Given the description of an element on the screen output the (x, y) to click on. 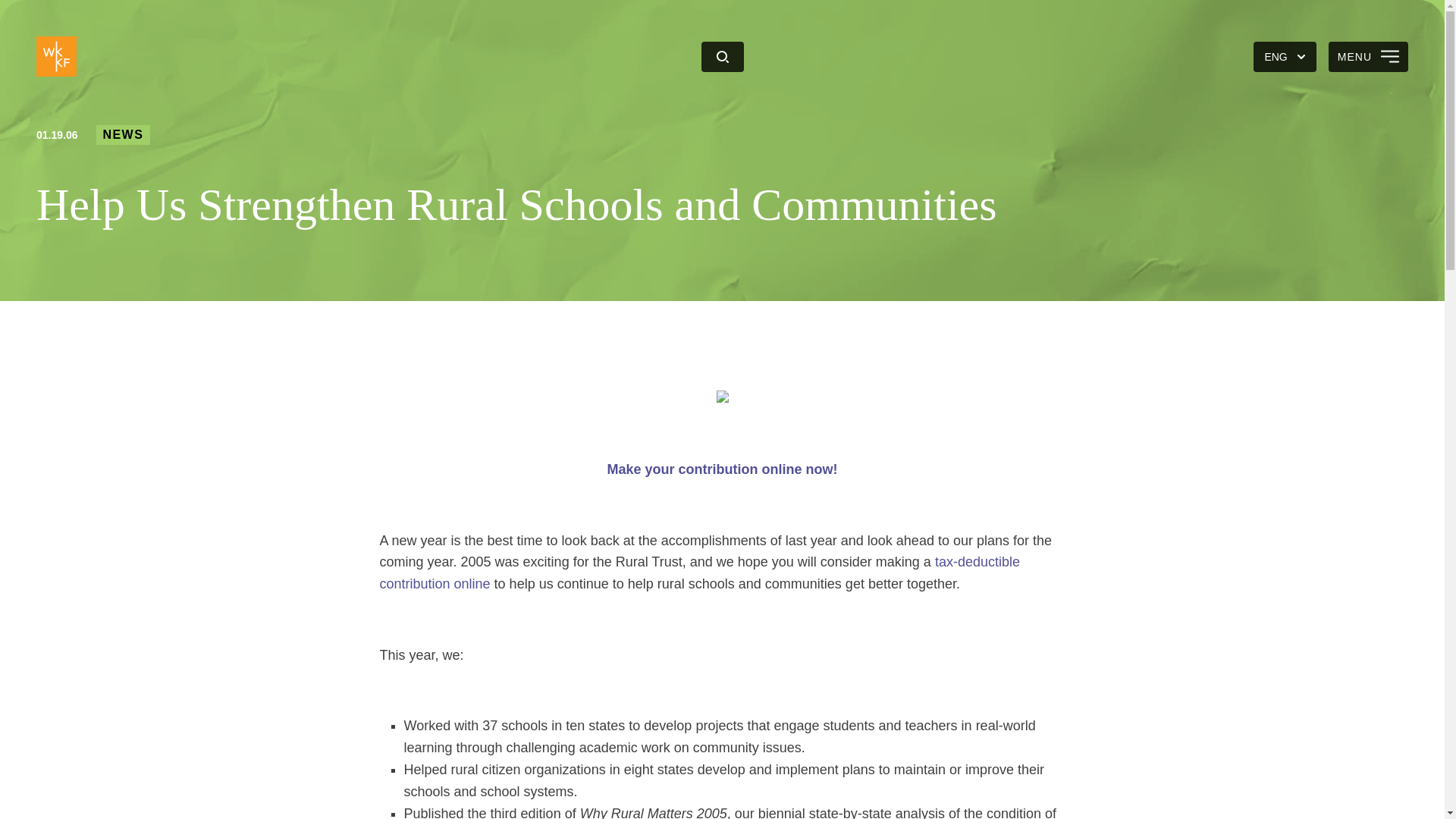
Make your contribution online now! (722, 468)
MENU (1367, 55)
Go to home page (58, 56)
tax-deductible contribution online (698, 572)
